Given the description of an element on the screen output the (x, y) to click on. 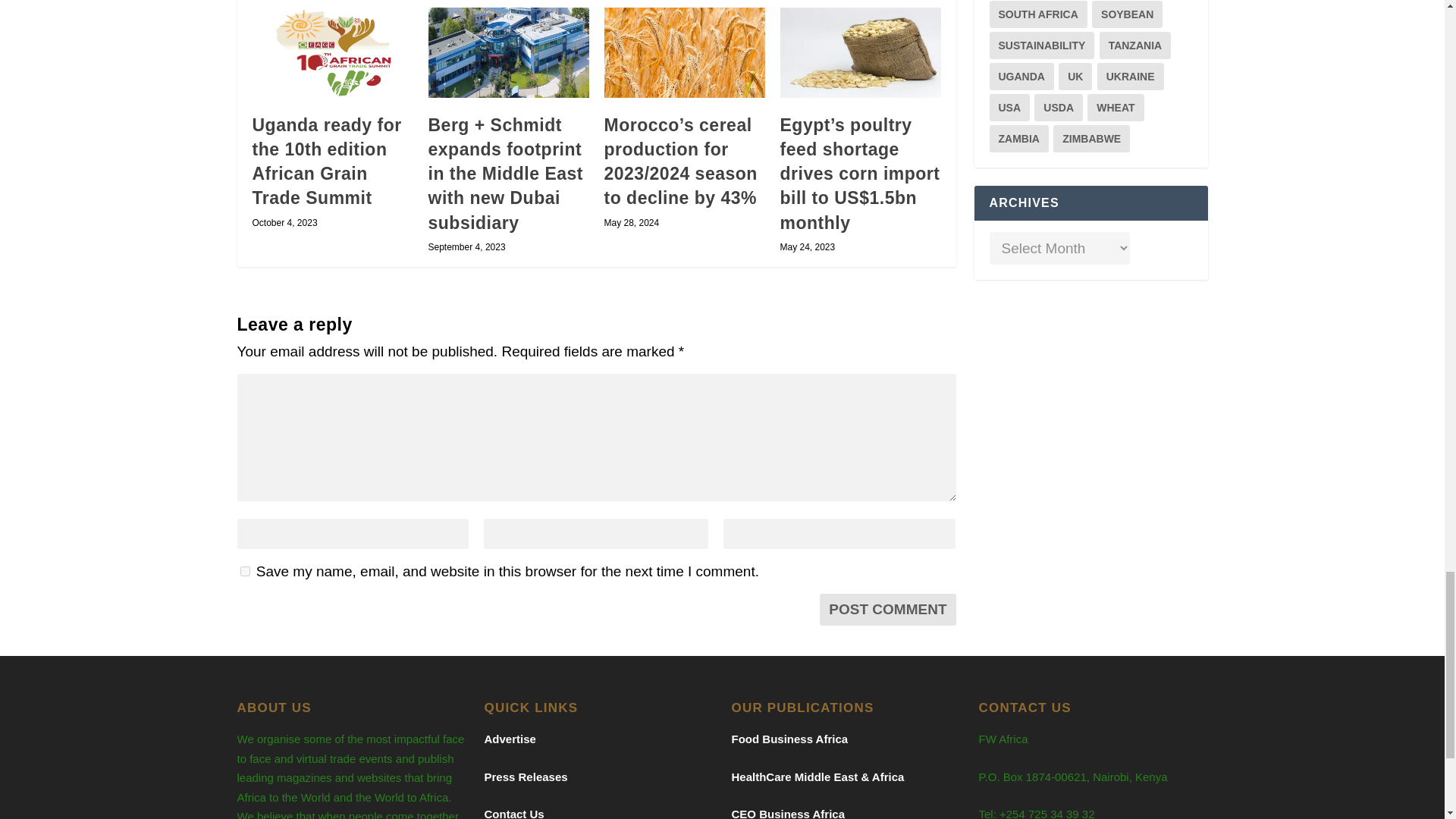
Post Comment (887, 609)
yes (244, 571)
Uganda ready for the 10th edition African Grain Trade Summit (331, 52)
